Given the description of an element on the screen output the (x, y) to click on. 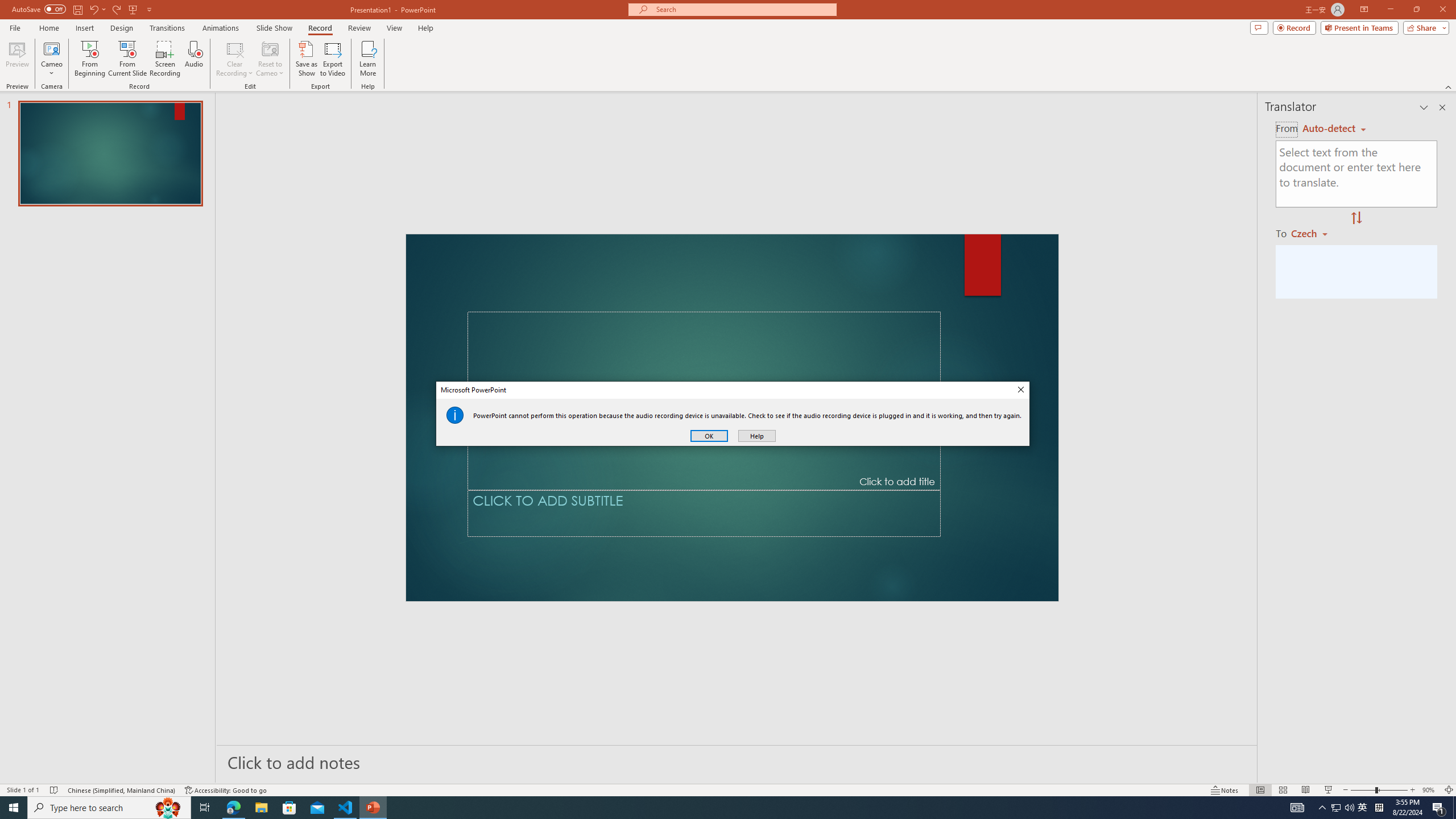
Subtitle TextBox (703, 513)
From Beginning... (89, 58)
Zoom 90% (1430, 790)
Accessibility Checker Accessibility: Good to go (226, 790)
